Given the description of an element on the screen output the (x, y) to click on. 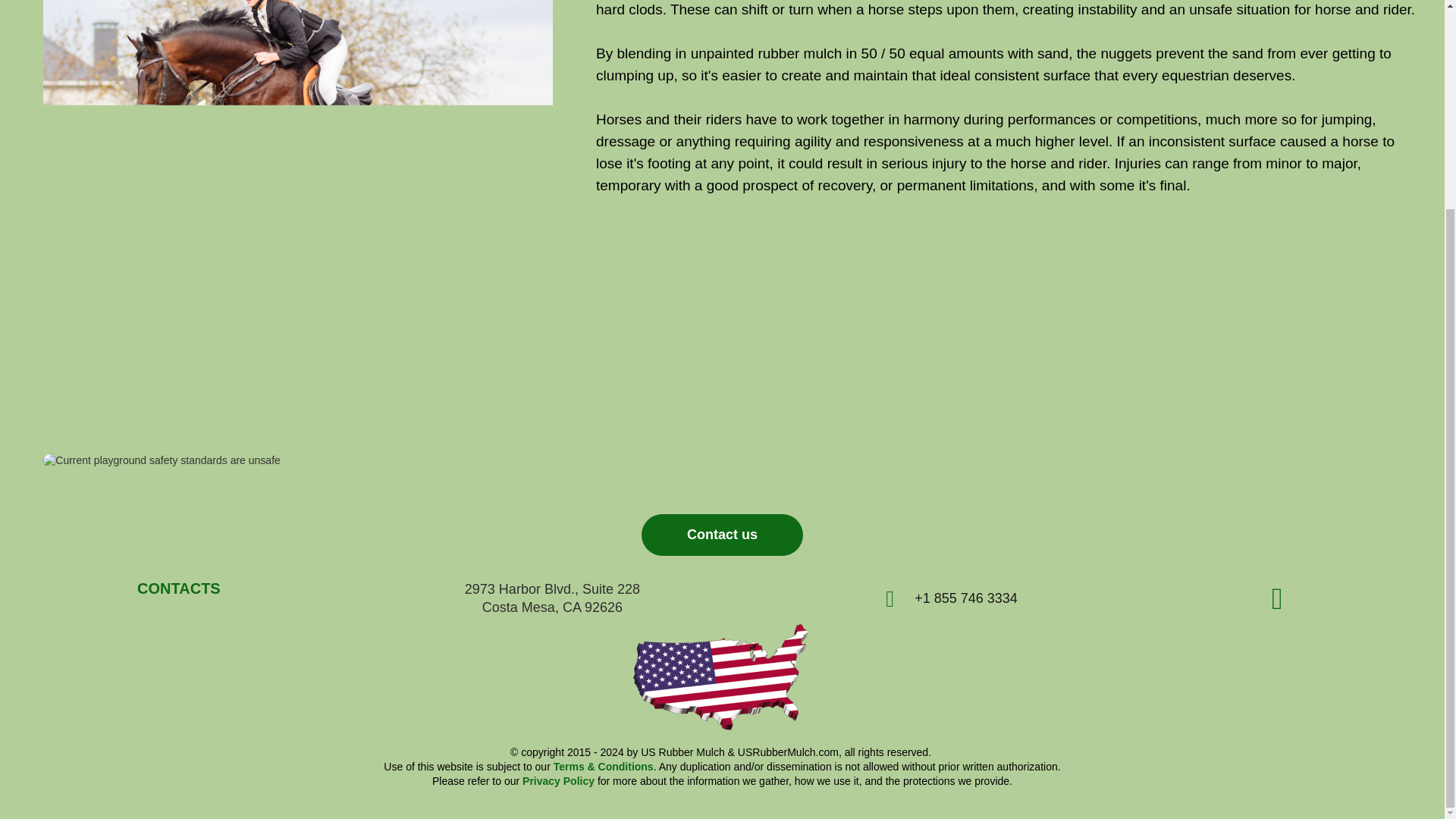
US Rubber Mulch on facebook (1284, 598)
Current playground safety standards are unsafe (297, 460)
Contact us (722, 535)
USRM Flag Logo (721, 677)
Privacy Policy (558, 780)
